Given the description of an element on the screen output the (x, y) to click on. 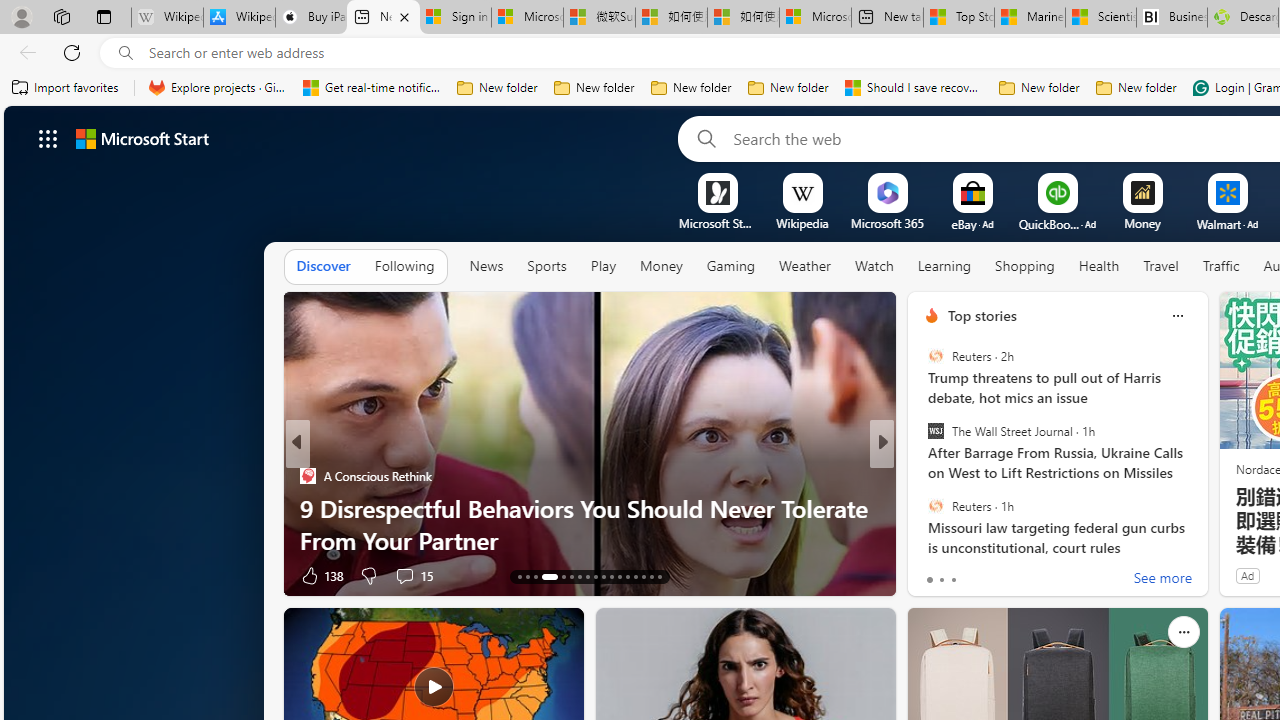
AutomationID: tab-20 (586, 576)
Microsoft start (142, 138)
38 Like (934, 574)
SlashGear (923, 507)
